Given the description of an element on the screen output the (x, y) to click on. 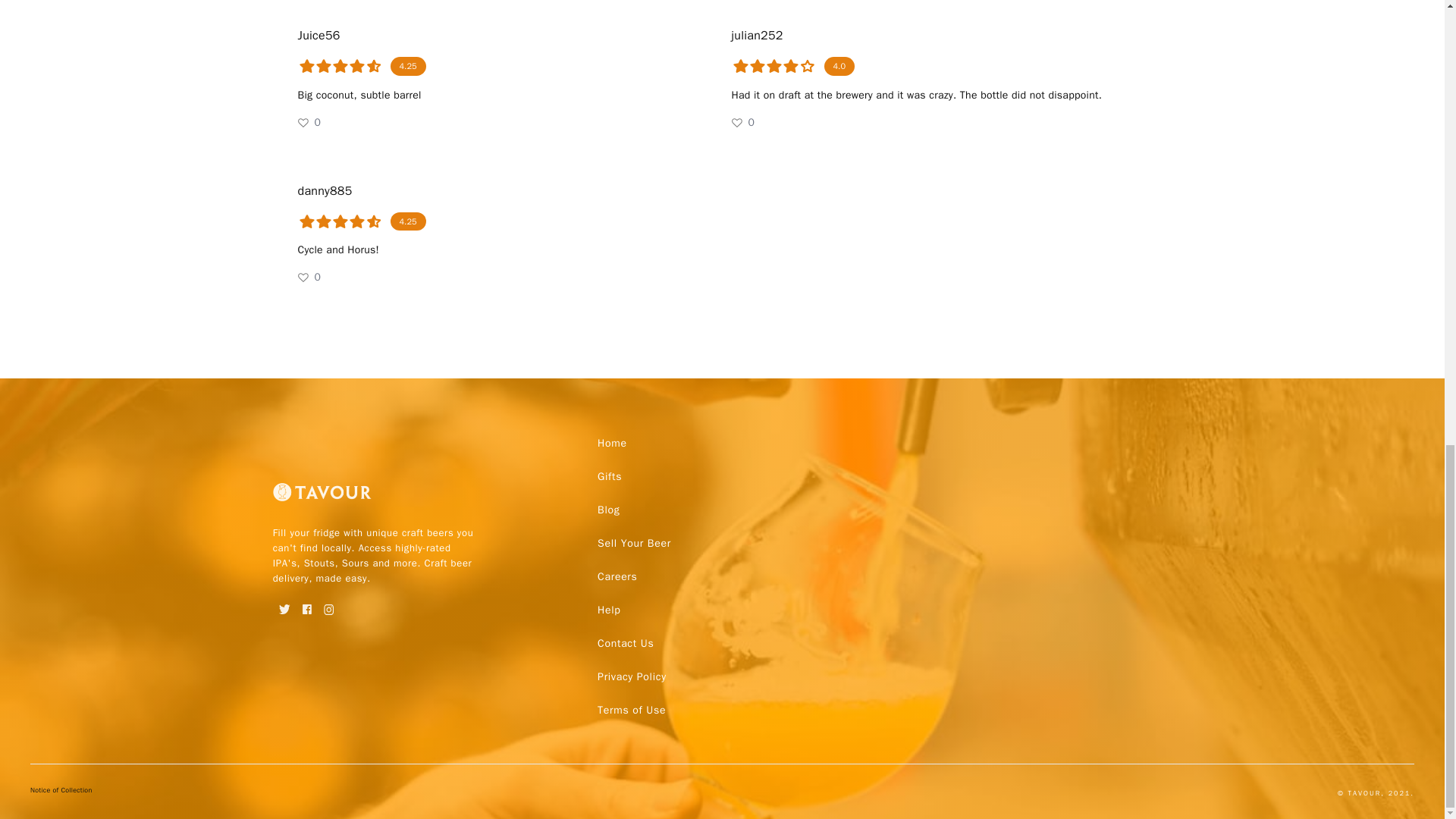
FAQ (631, 710)
Home (612, 443)
Careers (617, 576)
Careers (617, 576)
Facebook (307, 604)
gifts (609, 476)
Terms of Use (631, 710)
Notice of Collection (61, 792)
FAQ (625, 643)
Gifts (609, 476)
